Given the description of an element on the screen output the (x, y) to click on. 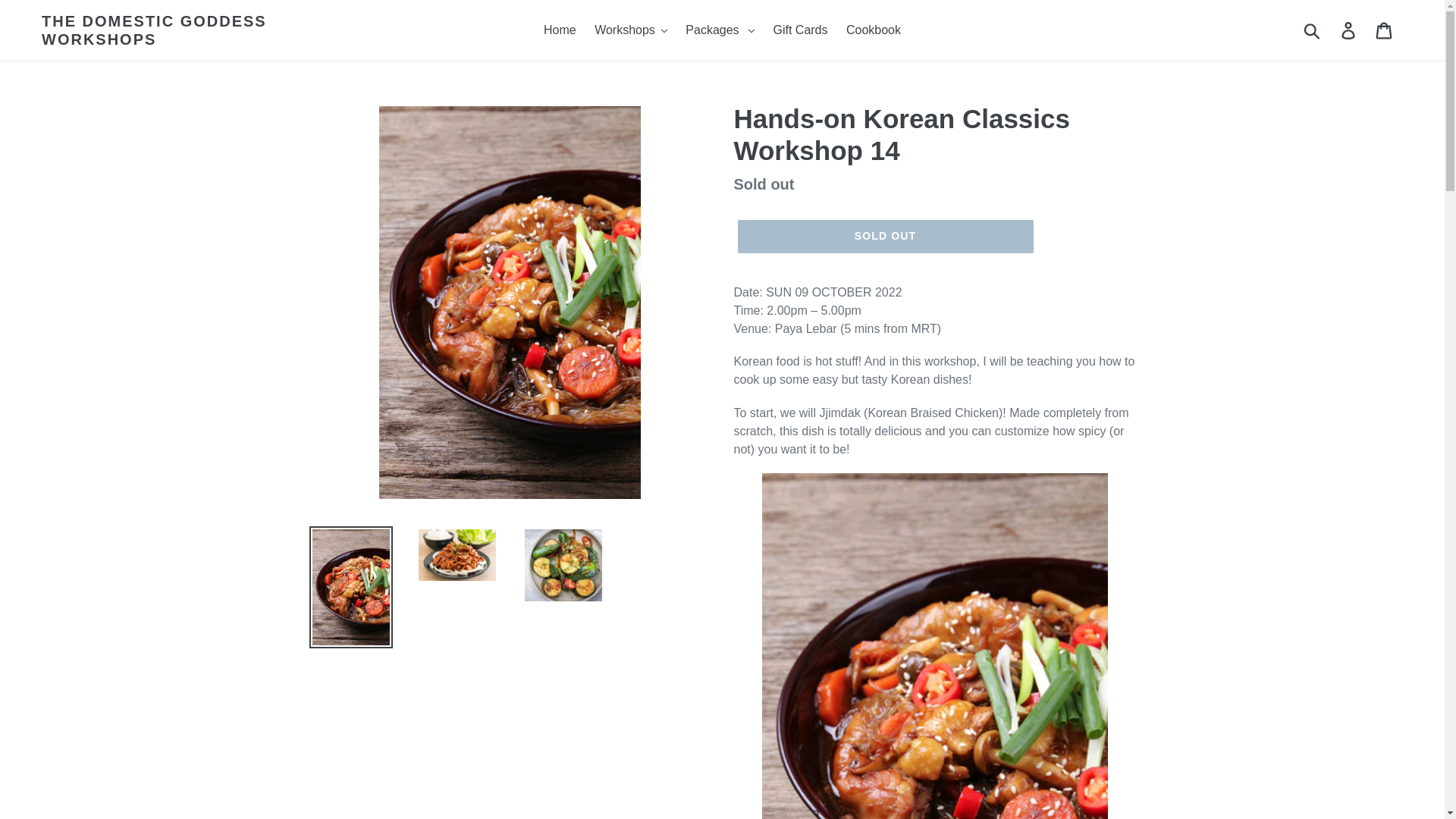
SOLD OUT (884, 236)
Cookbook (873, 29)
Home (559, 29)
Submit (1313, 29)
Cart (1385, 29)
Log in (1349, 29)
Gift Cards (799, 29)
THE DOMESTIC GODDESS WORKSHOPS (211, 30)
